Given the description of an element on the screen output the (x, y) to click on. 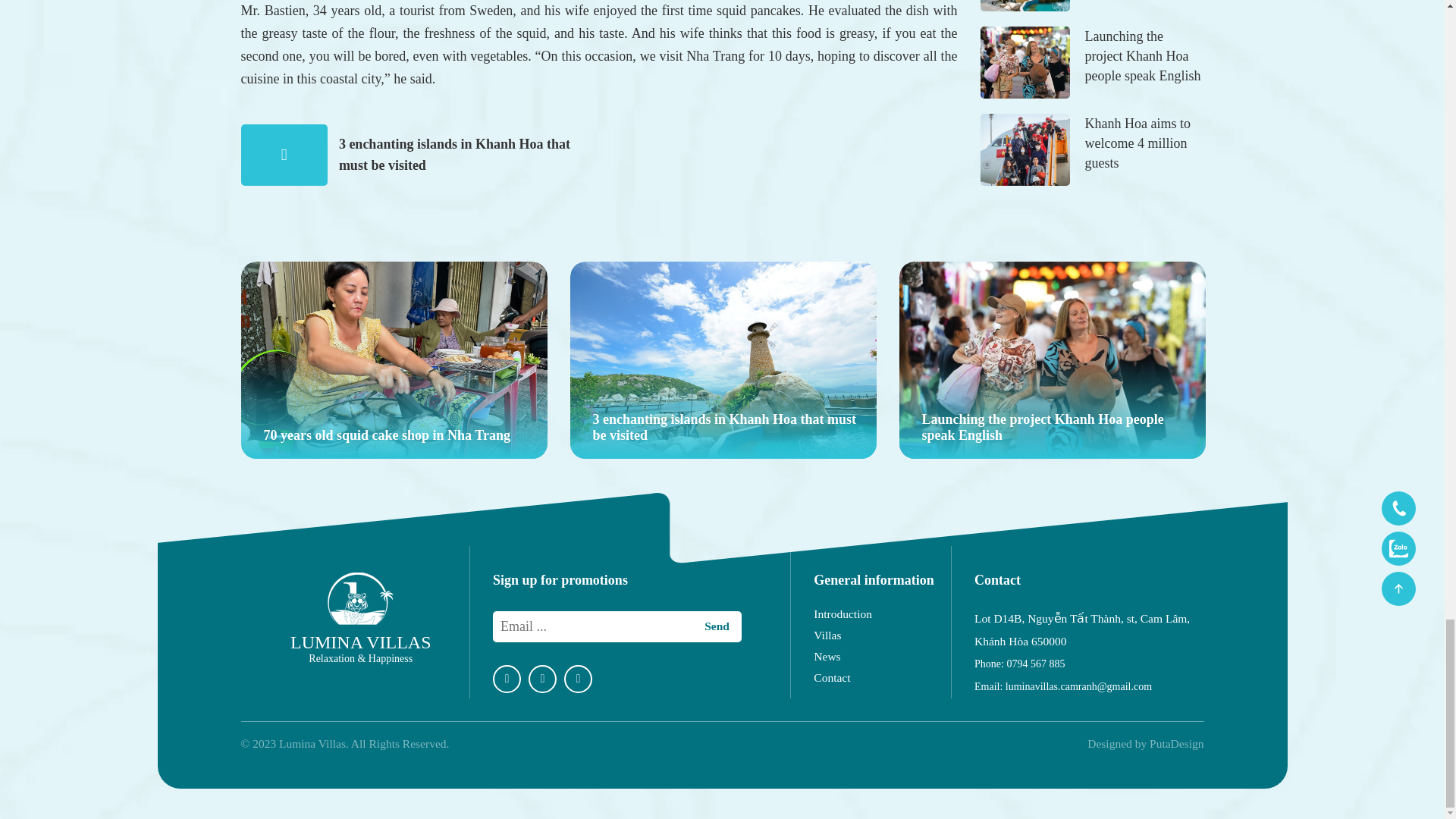
70 years old squid cake shop in Nha Trang (394, 359)
0794 567 885 (1035, 663)
3 enchanting islands in Khanh Hoa that must be visited (454, 154)
News (881, 656)
Contact (881, 677)
Launching the project Khanh Hoa people speak English (1052, 359)
Send (716, 626)
Villas (881, 635)
3 enchanting islands in Khanh Hoa that must be visited (723, 359)
Introduction (881, 613)
